Given the description of an element on the screen output the (x, y) to click on. 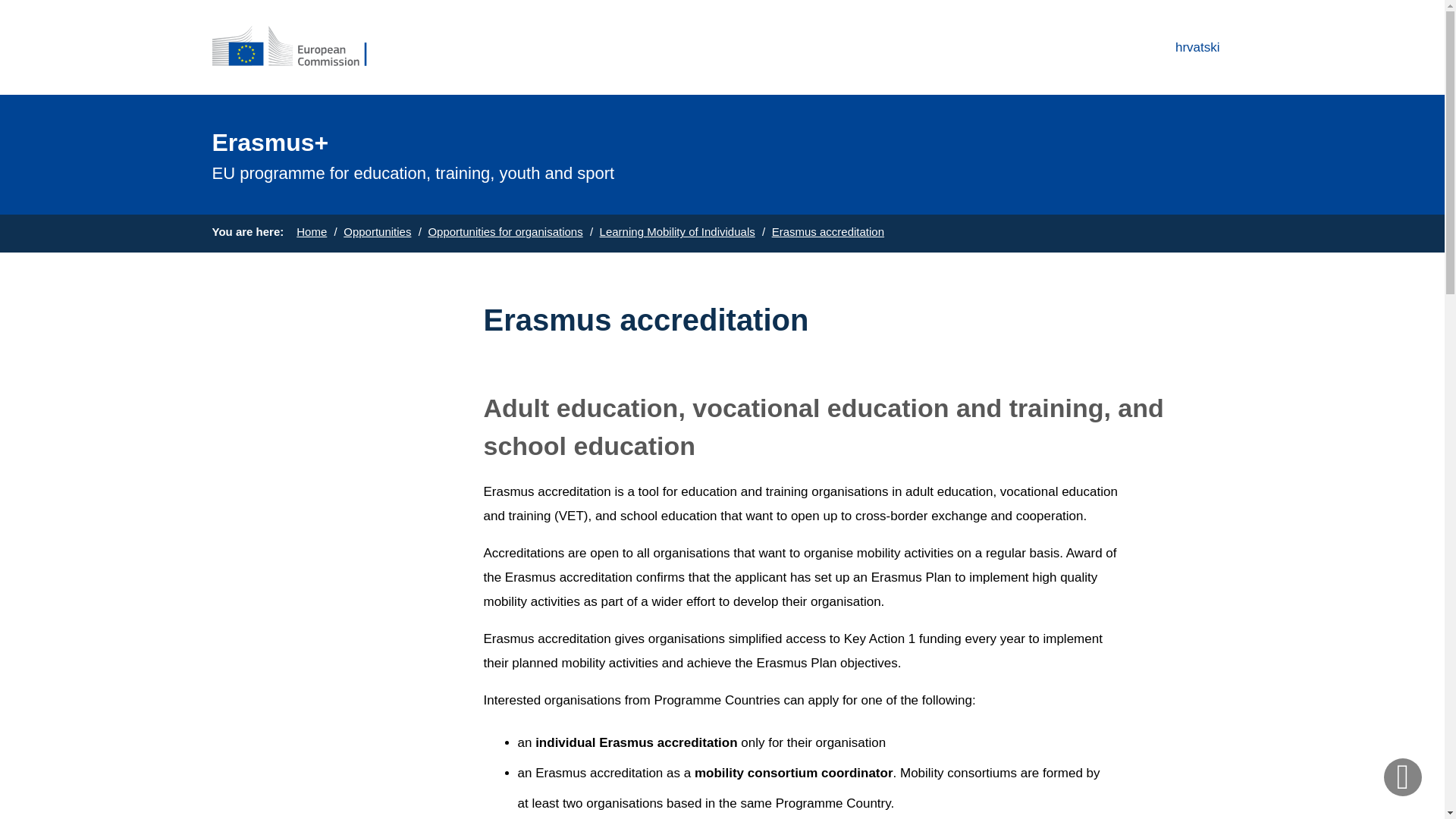
Skip to main content (6, 6)
Opportunities for organisations (505, 231)
Home (311, 231)
Opportunities (376, 231)
Erasmus accreditation (827, 231)
Learning Mobility of Individuals (677, 231)
